Given the description of an element on the screen output the (x, y) to click on. 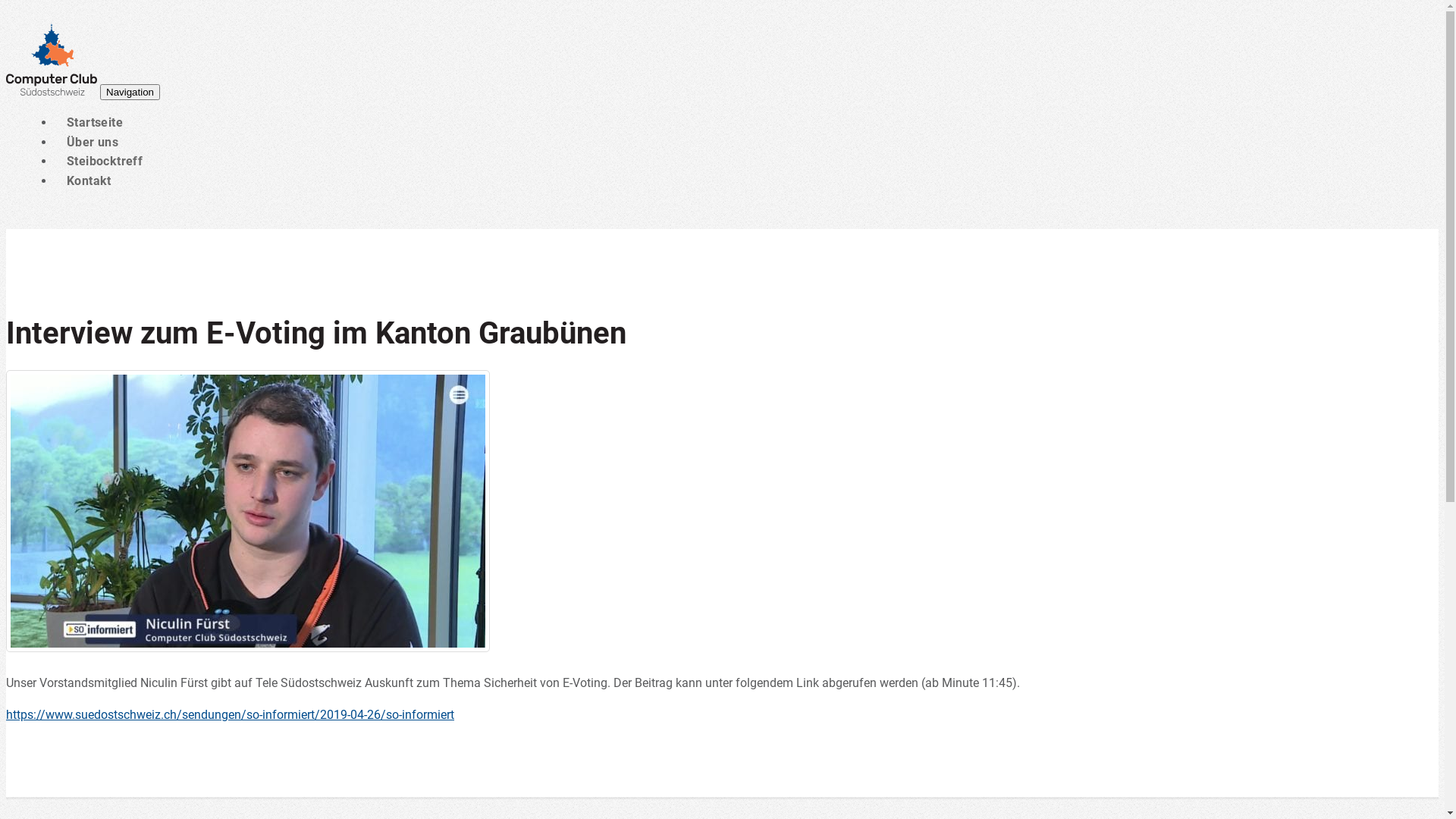
Kontakt Element type: text (88, 180)
Navigation Element type: text (130, 92)
Startseite Element type: text (94, 122)
Steibocktreff Element type: text (104, 160)
